Given the description of an element on the screen output the (x, y) to click on. 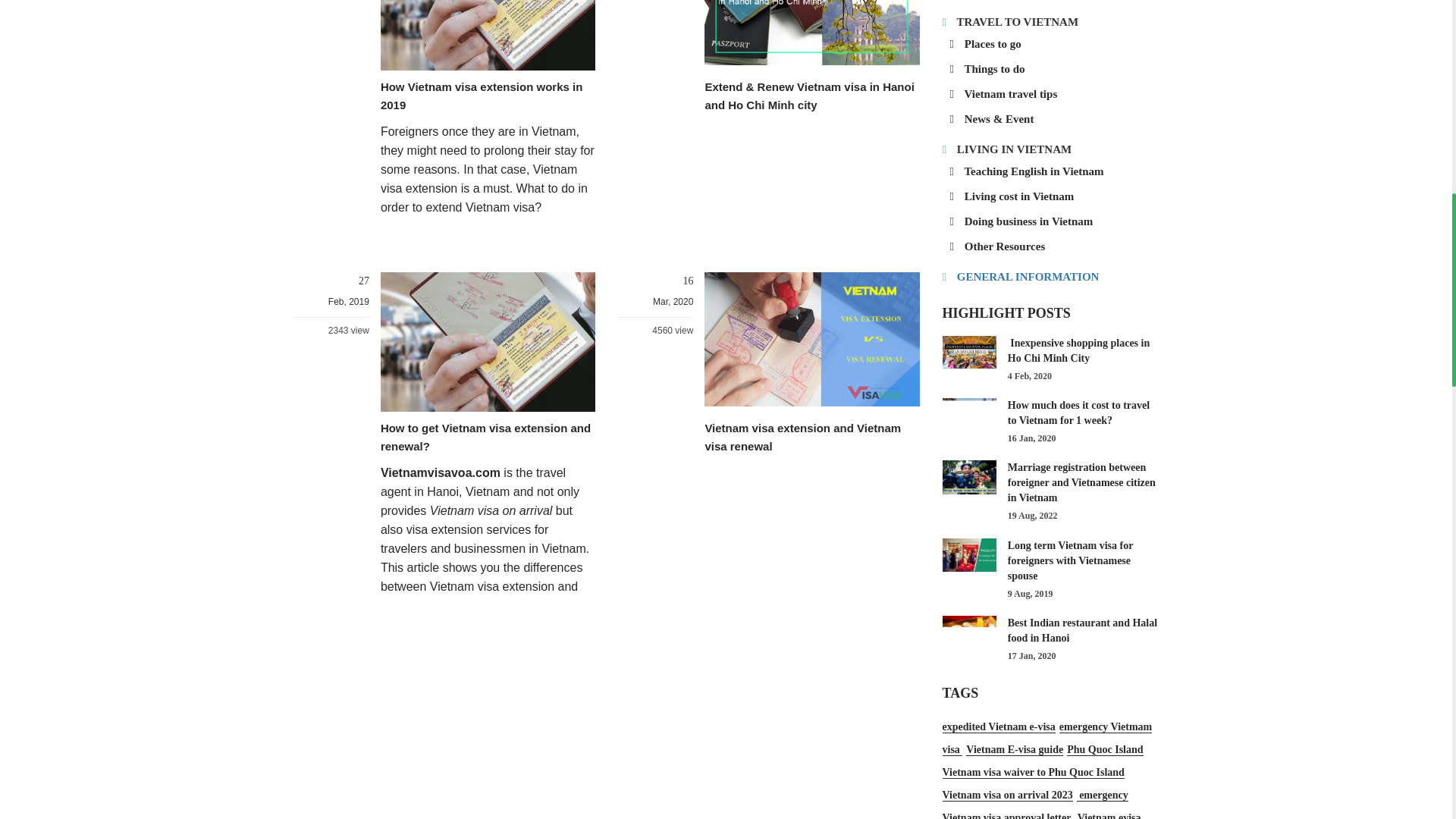
How Vietnam visa extension works in 2019 (481, 95)
How to get Vietnam visa extension and renewal? (485, 436)
